Given the description of an element on the screen output the (x, y) to click on. 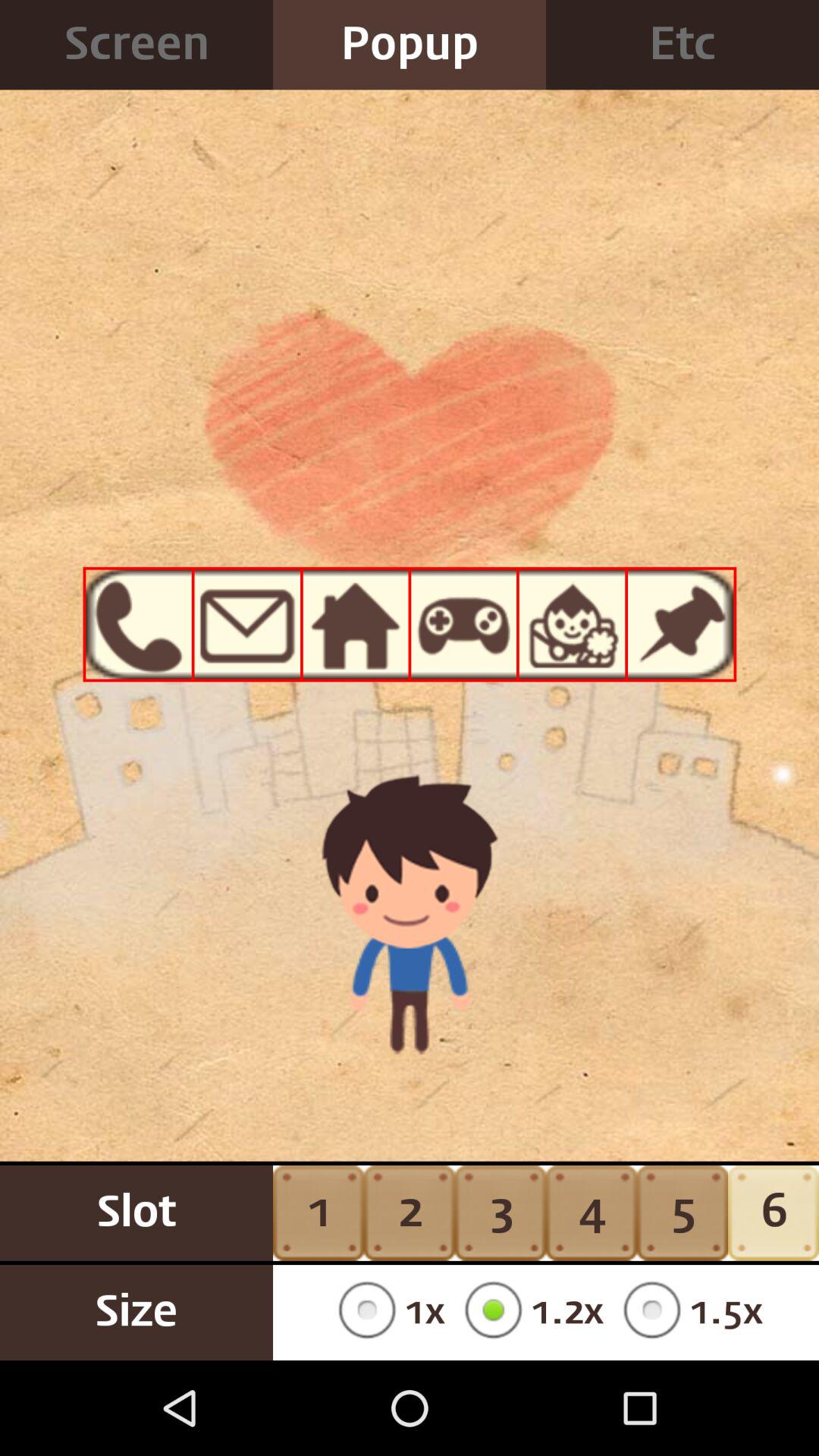
tap the item next to 3 button (386, 1312)
